Given the description of an element on the screen output the (x, y) to click on. 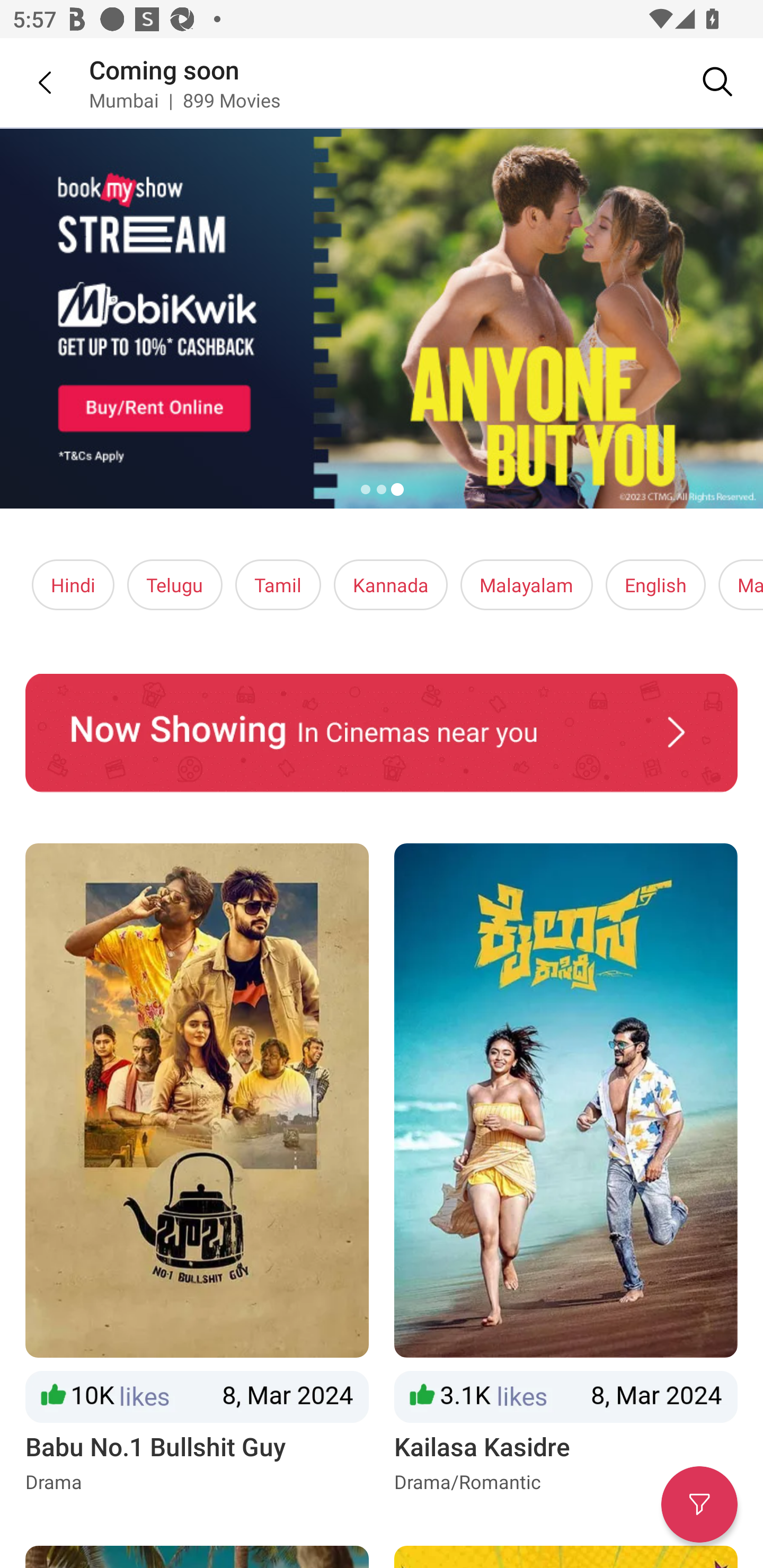
Back (31, 82)
Coming soon (164, 68)
Mumbai  |  899 Movies (184, 99)
Hindi (73, 584)
Telugu (174, 584)
Tamil (278, 584)
Kannada (390, 584)
Malayalam (526, 584)
English (655, 584)
Babu No.1 Bullshit Guy Drama (196, 1168)
Kailasa Kasidre Drama/Romantic (565, 1168)
Filter (699, 1504)
